Given the description of an element on the screen output the (x, y) to click on. 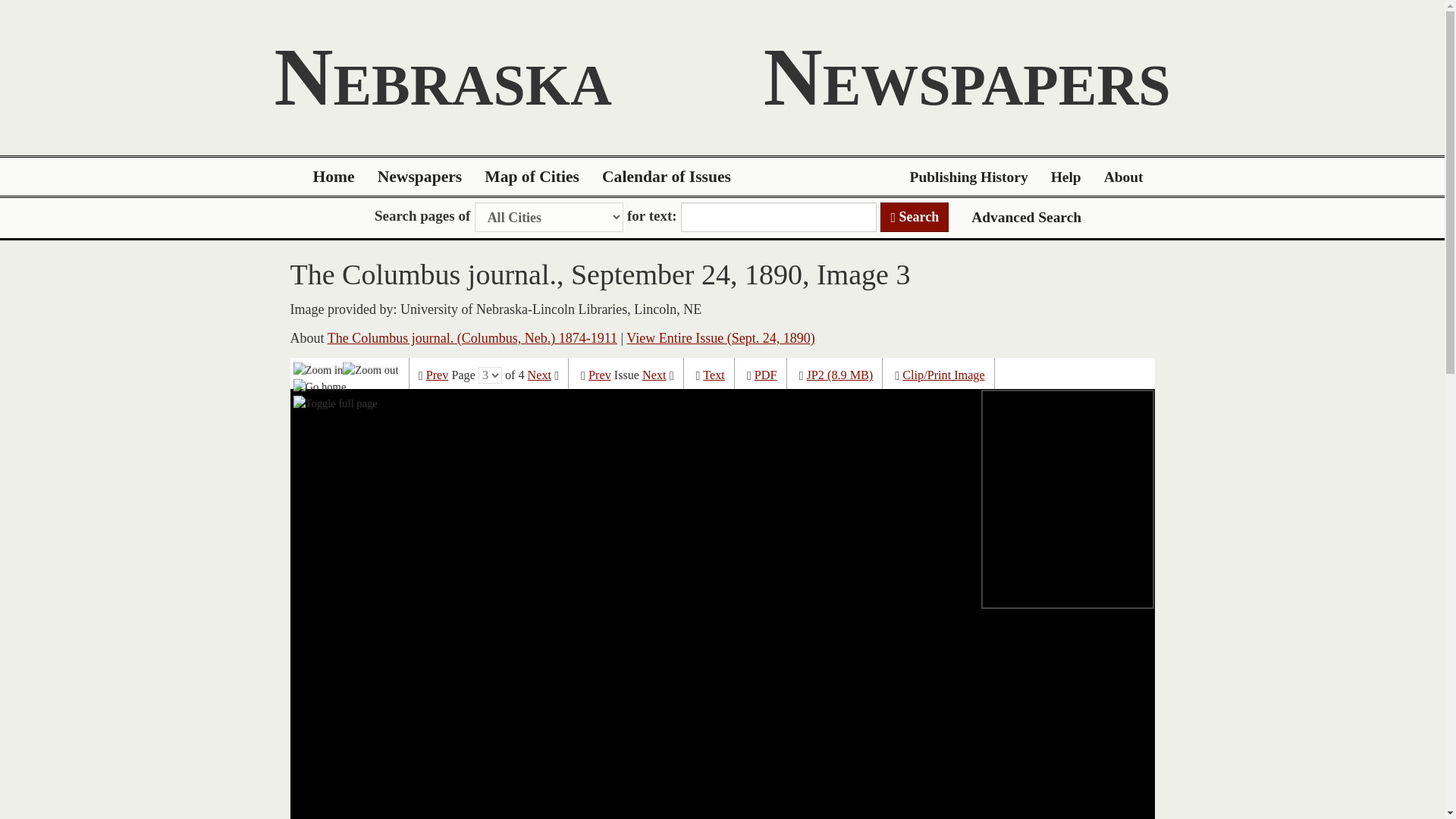
About (1123, 176)
Zoom out (369, 369)
Go home (320, 386)
Map of Cities (532, 176)
Toggle full page (335, 402)
Newspapers (420, 176)
Text (714, 375)
Calendar of Issues (666, 176)
Prev (599, 375)
Publishing History (968, 176)
